Given the description of an element on the screen output the (x, y) to click on. 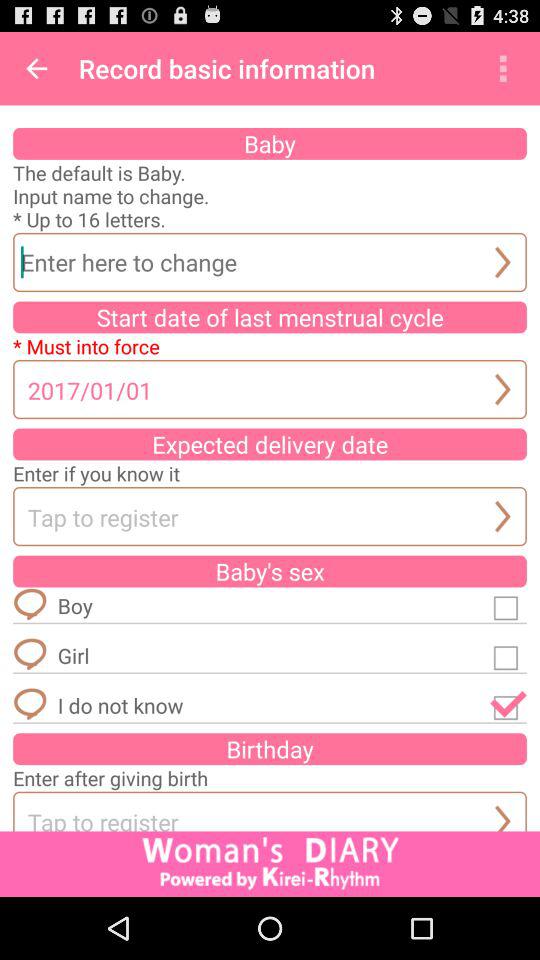
enter the name (269, 261)
